Given the description of an element on the screen output the (x, y) to click on. 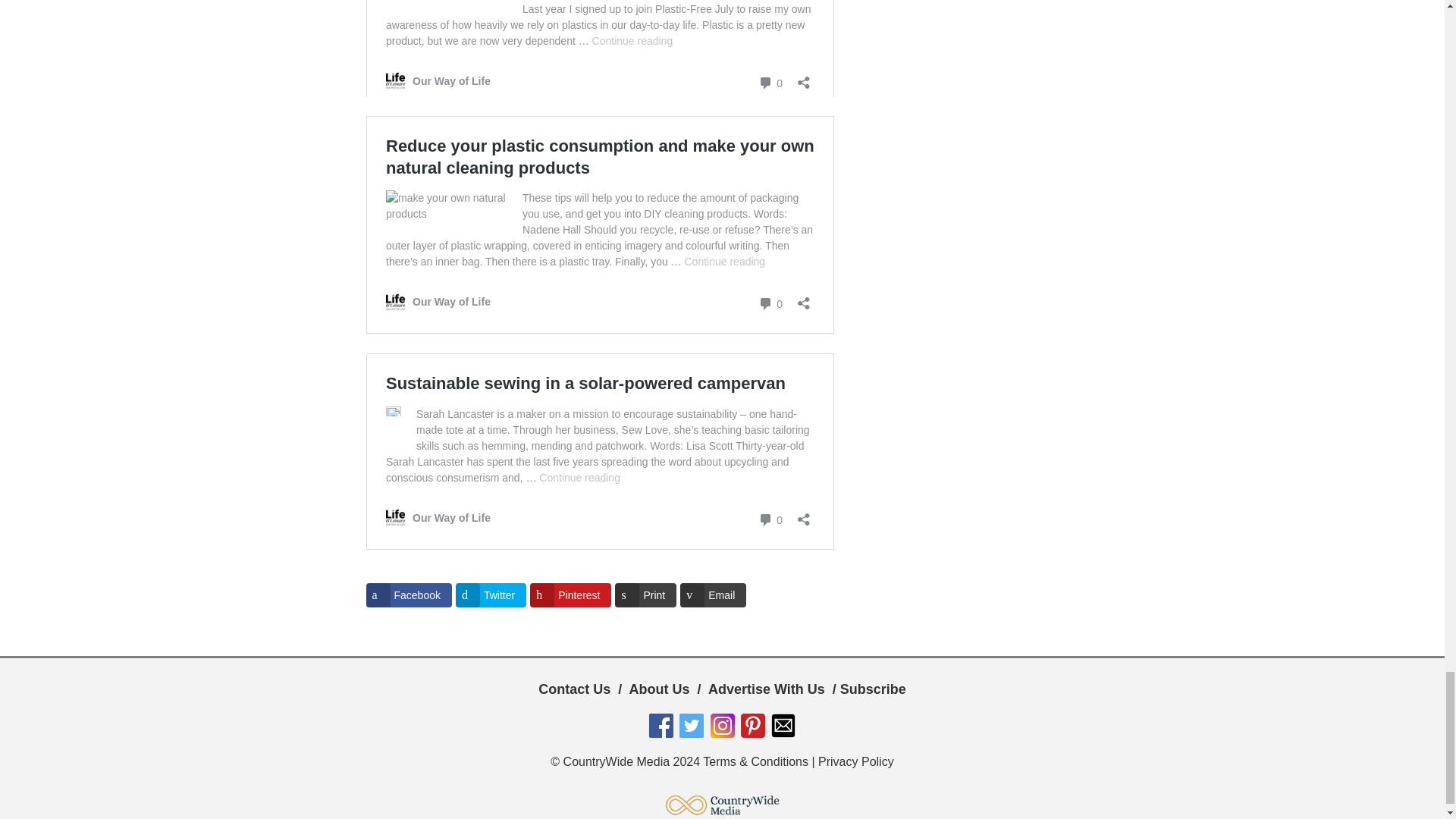
Share on Print (645, 595)
Share on Twitter (490, 595)
Pinterest (570, 595)
Twitter (490, 595)
Facebook (408, 595)
Share on Pinterest (570, 595)
Share on Facebook (408, 595)
Share on Email (712, 595)
